Given the description of an element on the screen output the (x, y) to click on. 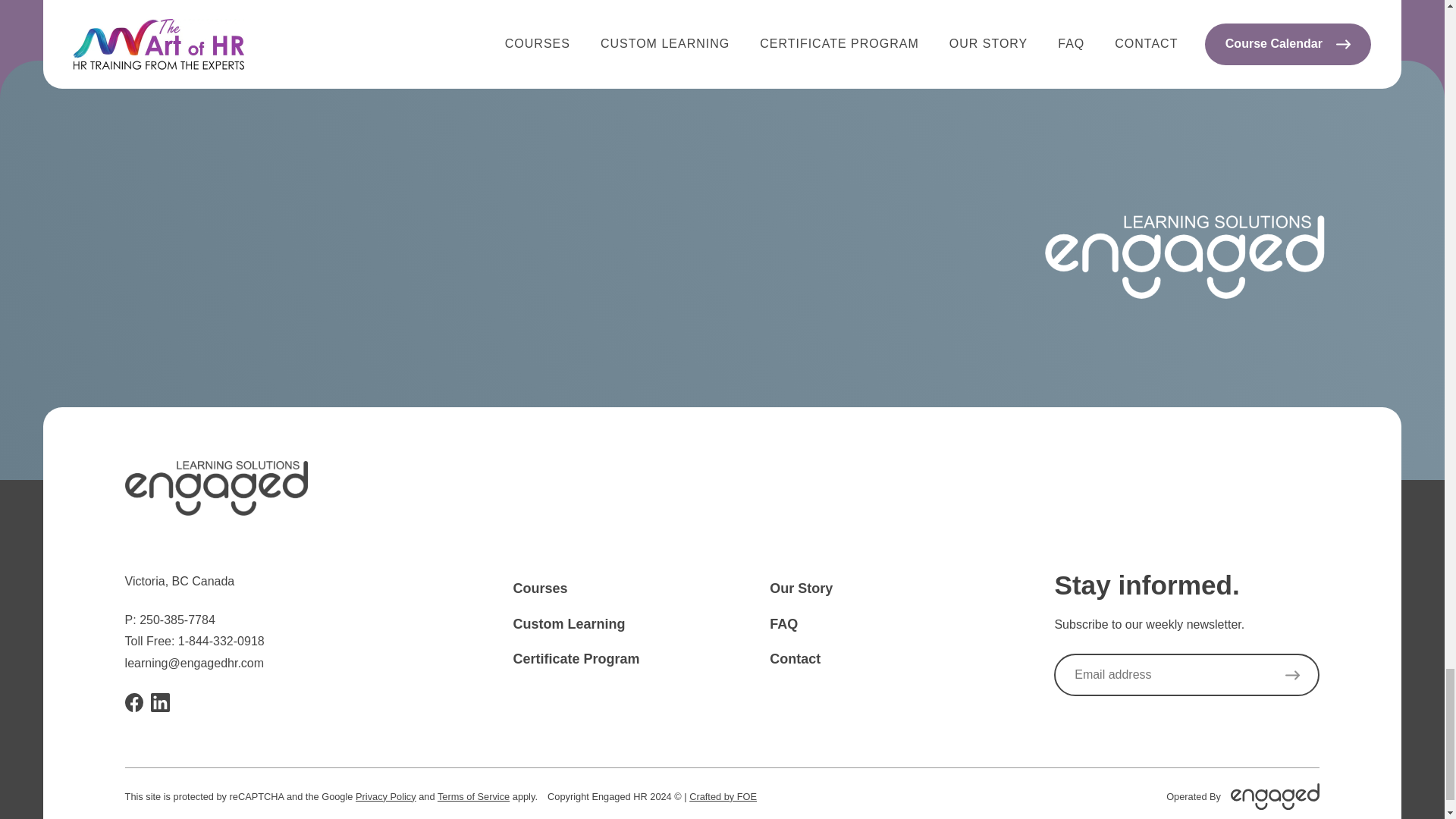
FAQ (783, 623)
Toll Free: 1-844-332-0918 (194, 641)
Certificate Program (575, 658)
Our Story (801, 588)
P: 250-385-7784 (170, 620)
Submit (1292, 674)
Submit (1292, 674)
Contact (795, 658)
Custom Learning (568, 623)
Courses (539, 588)
